Given the description of an element on the screen output the (x, y) to click on. 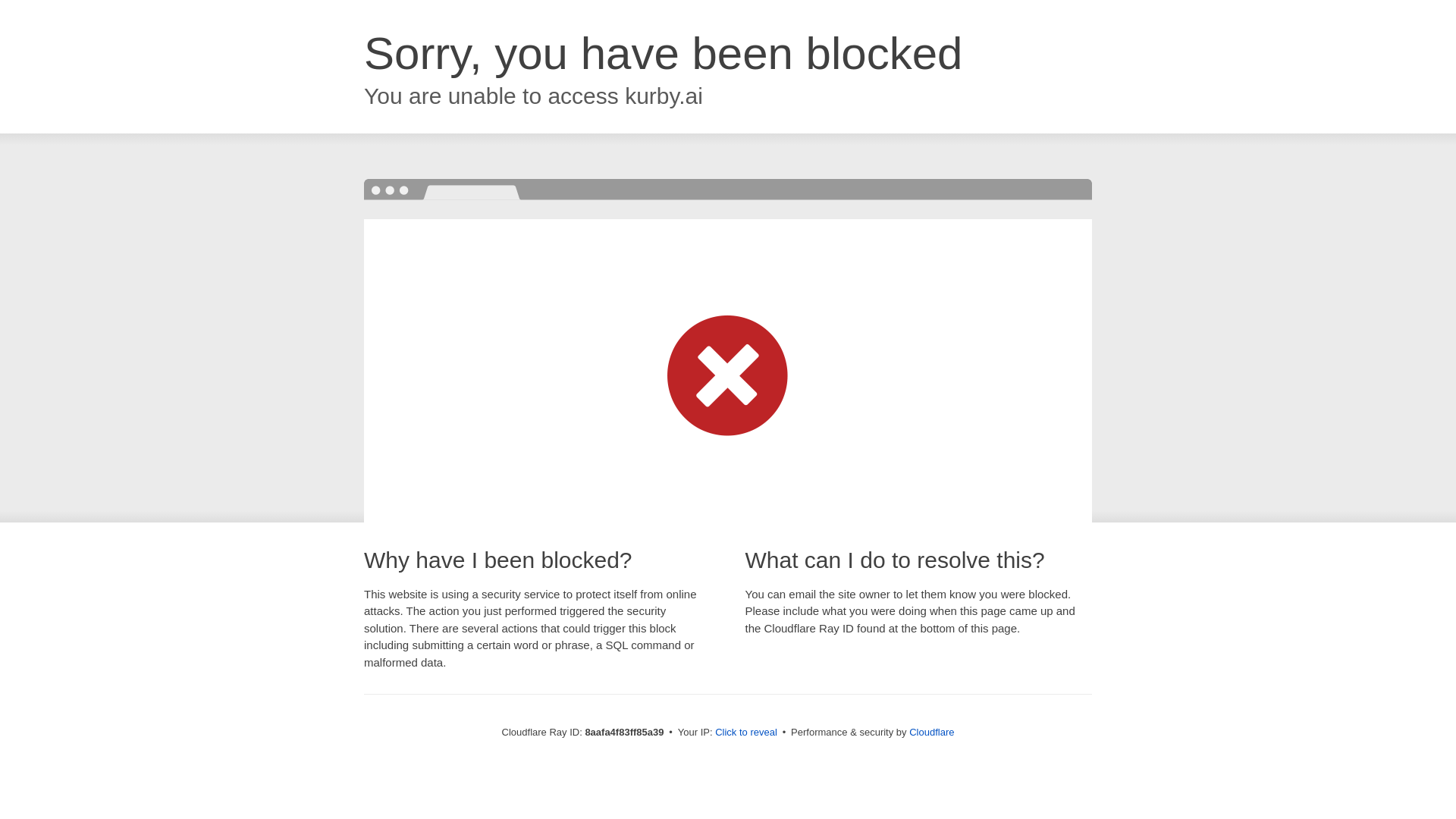
Click to reveal (745, 732)
Cloudflare (930, 731)
